Given the description of an element on the screen output the (x, y) to click on. 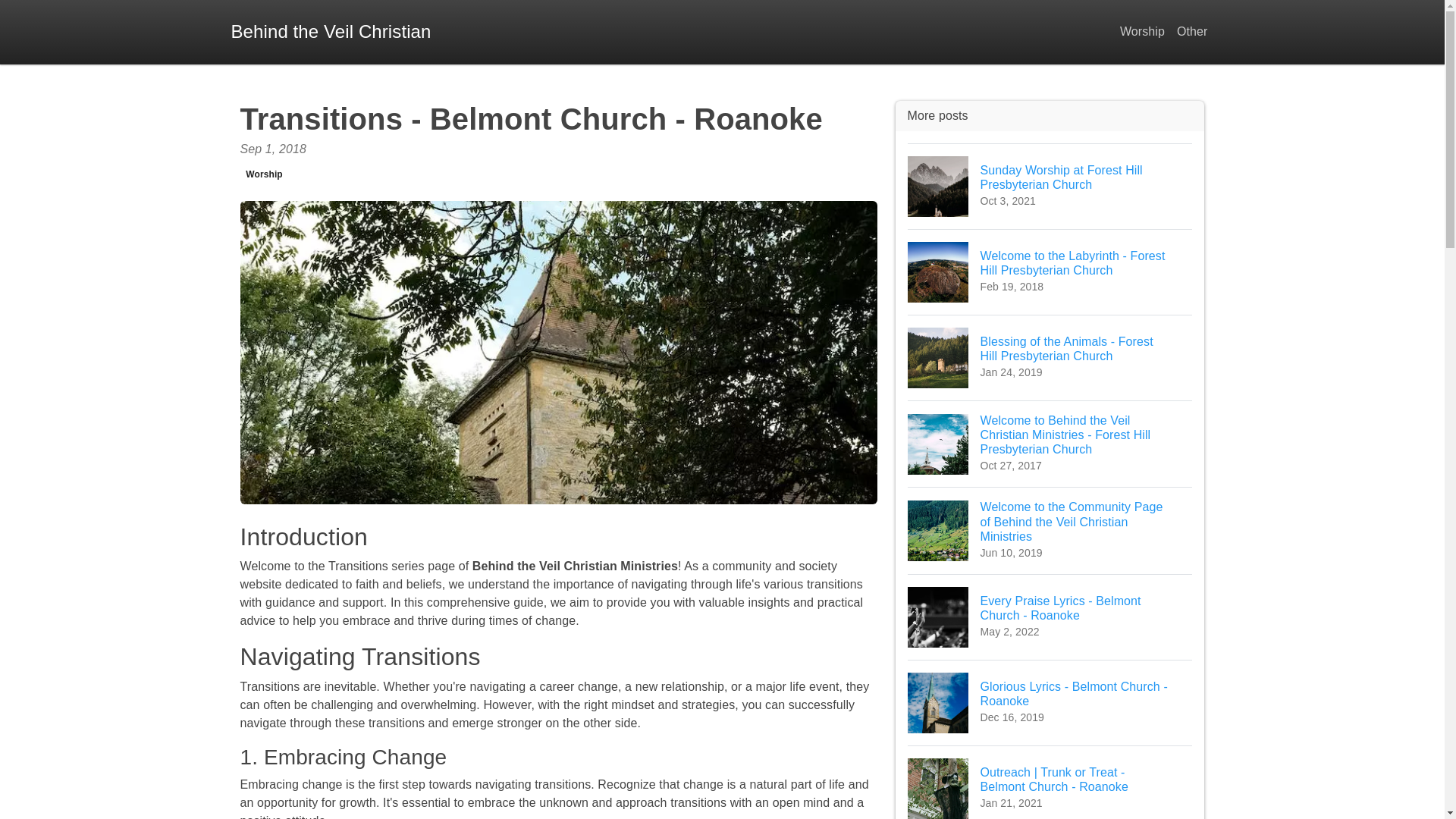
Worship (1049, 617)
Behind the Veil Christian (264, 174)
Other (330, 31)
Worship (1192, 32)
